Given the description of an element on the screen output the (x, y) to click on. 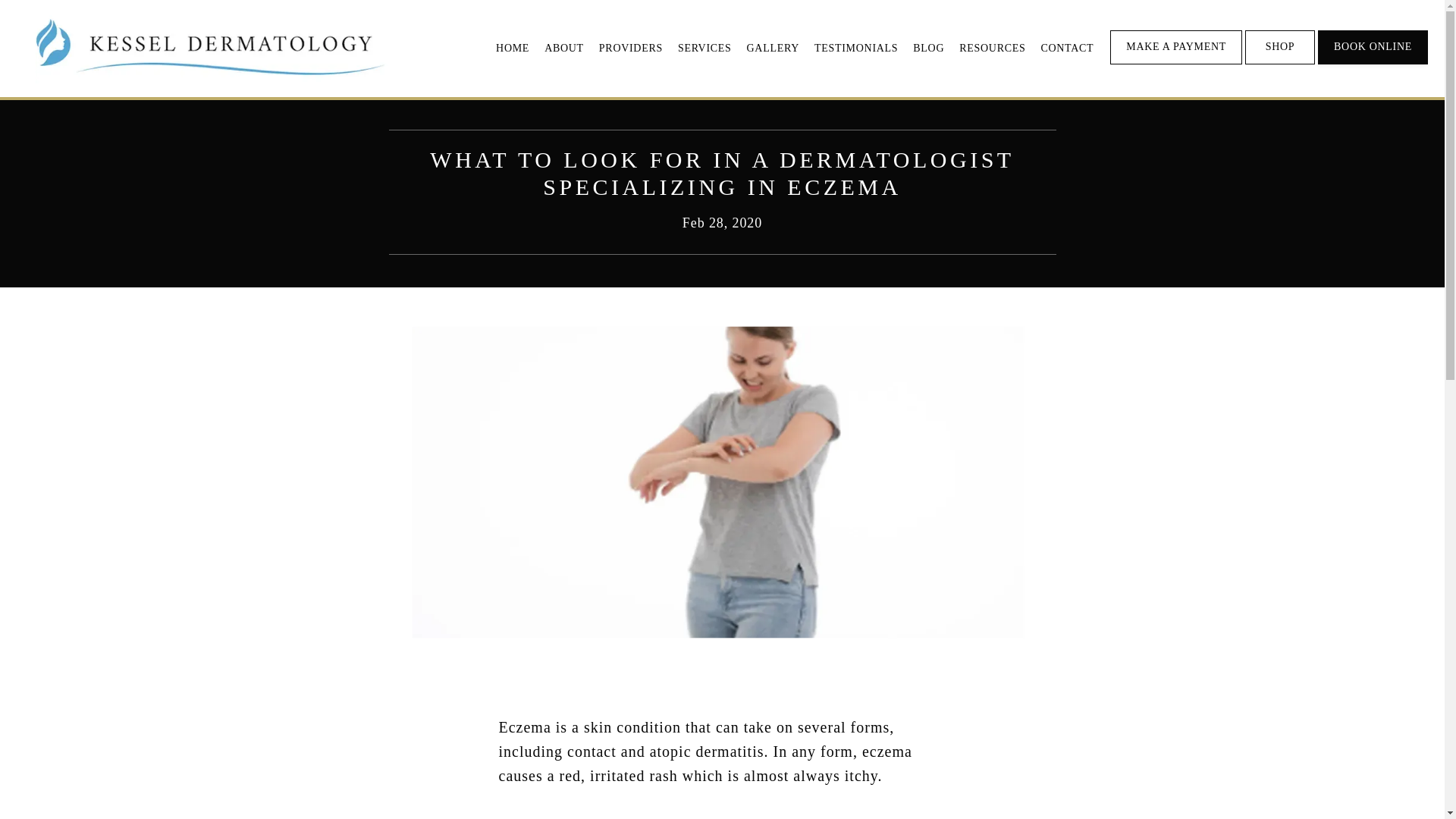
CONTACT (1067, 48)
MAKE A PAYMENT (1175, 62)
SHOP (1279, 62)
BLOG (927, 48)
GALLERY (772, 48)
PROVIDERS (630, 48)
HOME (512, 48)
BOOK ONLINE (1372, 62)
TESTIMONIALS (855, 48)
